Given the description of an element on the screen output the (x, y) to click on. 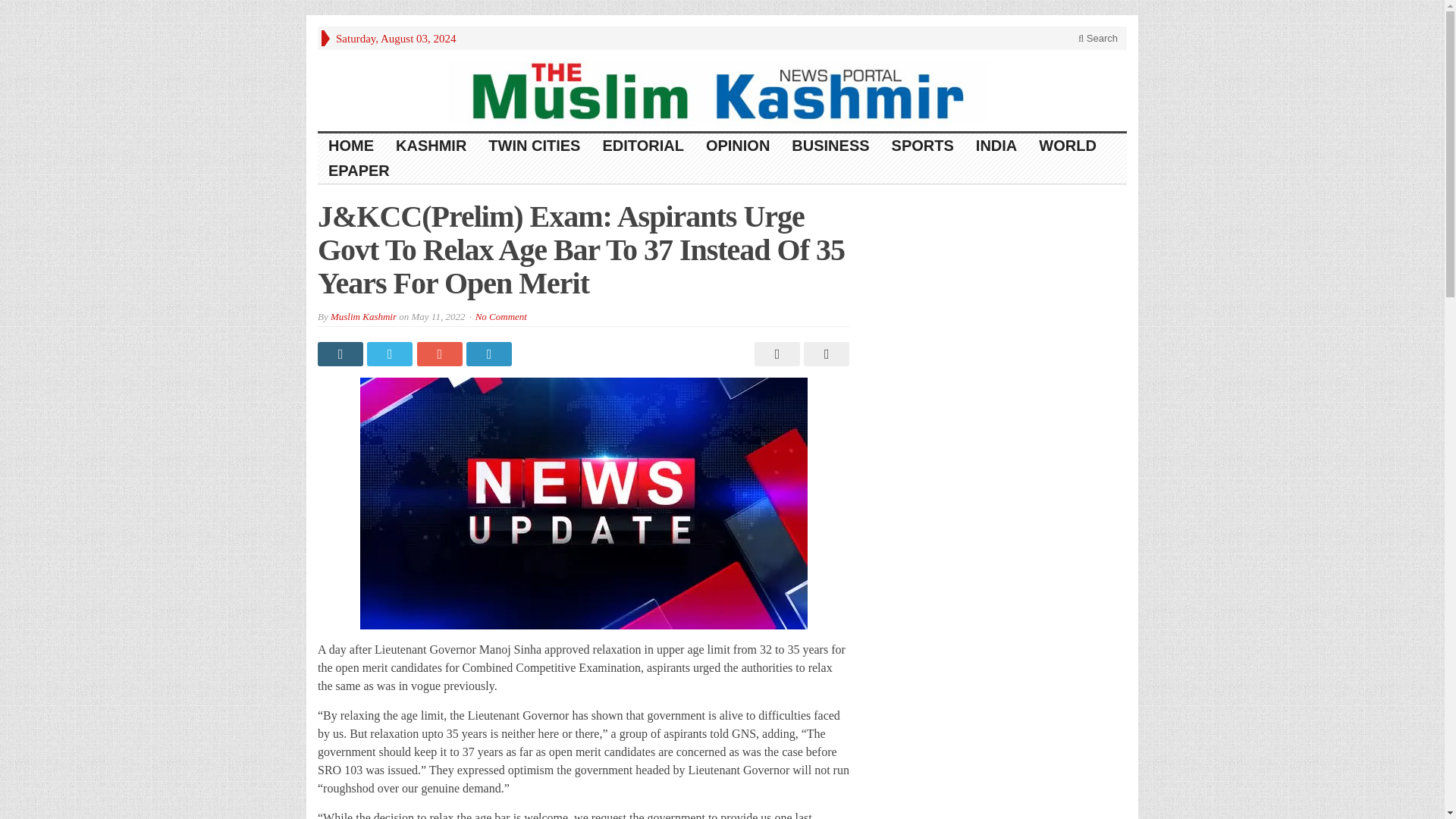
Print This Post (775, 354)
SPORTS (922, 145)
INDIA (996, 145)
HOME (351, 145)
Daily Newspaper (721, 90)
Send by Email (823, 354)
BUSINESS (830, 145)
EPAPER (359, 170)
Share on Facebook (341, 354)
EDITORIAL (642, 145)
TWIN CITIES (534, 145)
OPINION (737, 145)
Share on Twitter (391, 354)
Search (1097, 37)
WORLD (1067, 145)
